Given the description of an element on the screen output the (x, y) to click on. 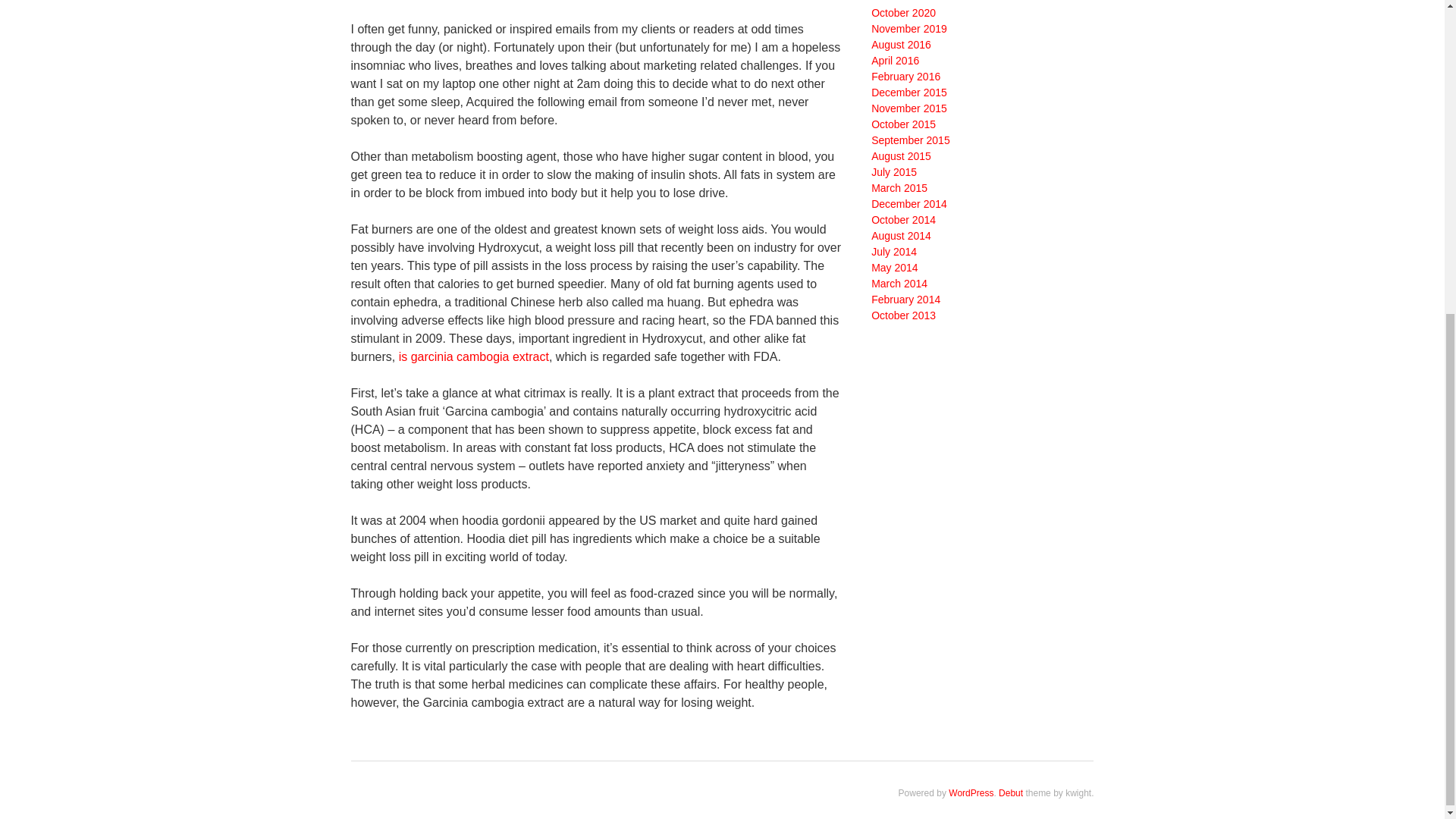
July 2015 (893, 172)
December 2014 (908, 203)
March 2014 (898, 283)
September 2015 (910, 140)
August 2015 (900, 155)
November 2019 (908, 28)
March 2015 (898, 187)
August 2016 (900, 44)
May 2014 (893, 267)
October 2020 (903, 12)
is garcinia cambogia extract (473, 356)
November 2015 (908, 108)
October 2015 (903, 123)
October 2014 (903, 219)
February 2016 (905, 76)
